Given the description of an element on the screen output the (x, y) to click on. 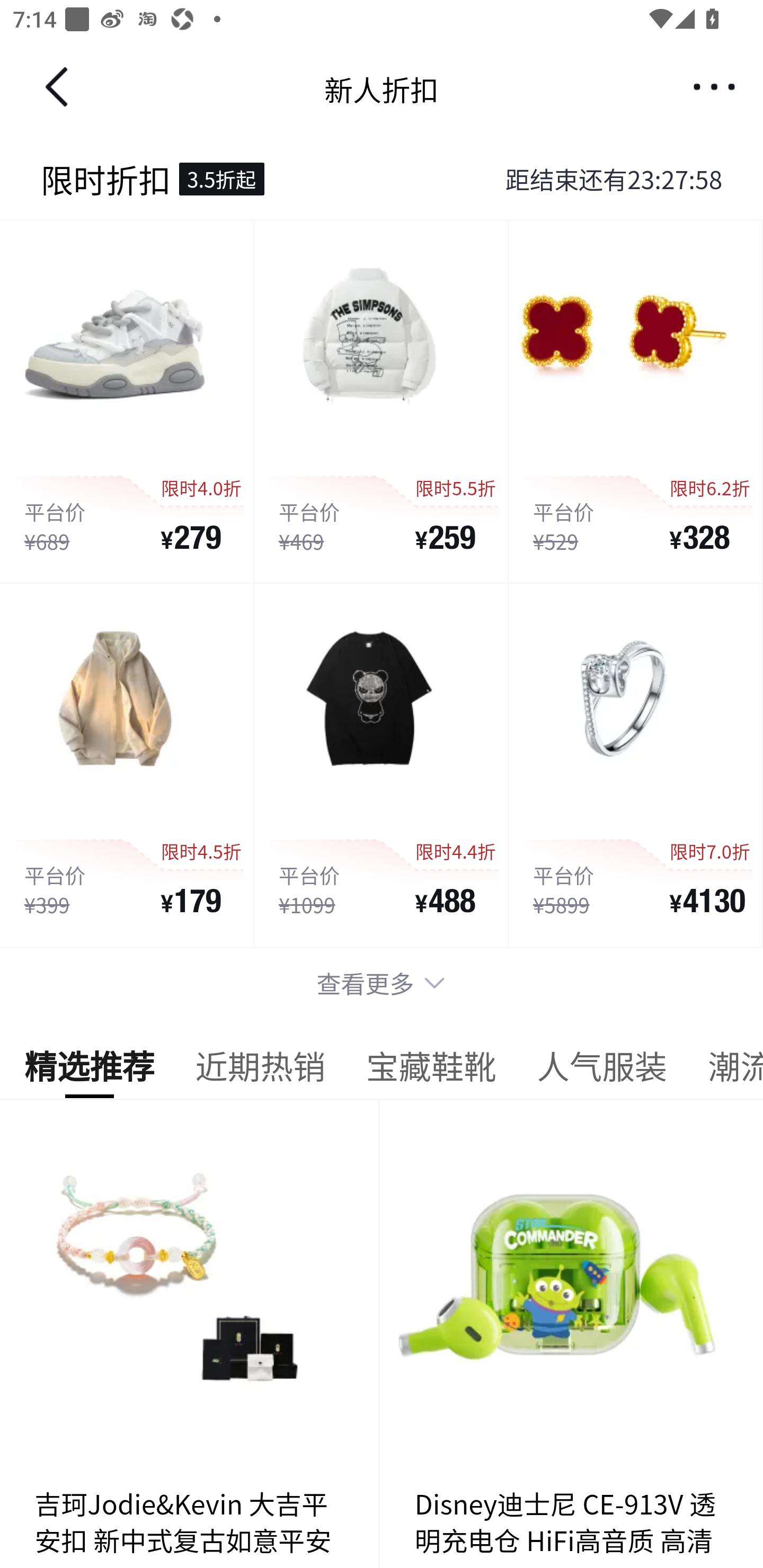
查看更多   7a6308c7-e67d-d593-fdc5-cca9685f7a7c-36-36 (381, 983)
精选推荐   (89, 1070)
近期热销 (259, 1070)
宝藏鞋靴 (431, 1070)
人气服装 (601, 1070)
